Given the description of an element on the screen output the (x, y) to click on. 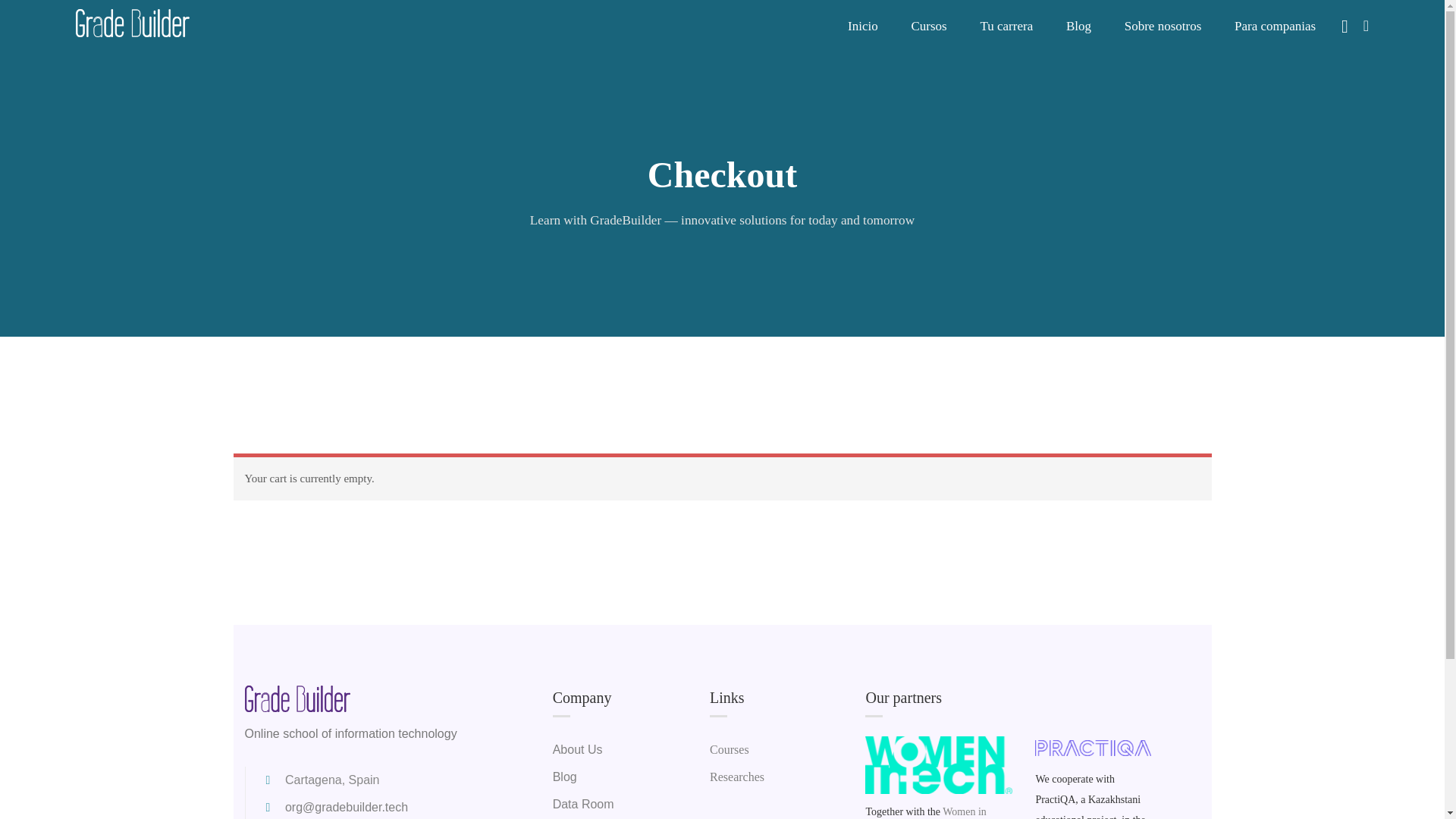
Blog (1078, 26)
Cursos (927, 26)
About Us (577, 748)
Blog (564, 776)
Data Room (583, 803)
Sobre nosotros (1163, 26)
okjhbv (1093, 747)
Login (837, 428)
0oijh (937, 764)
